Given the description of an element on the screen output the (x, y) to click on. 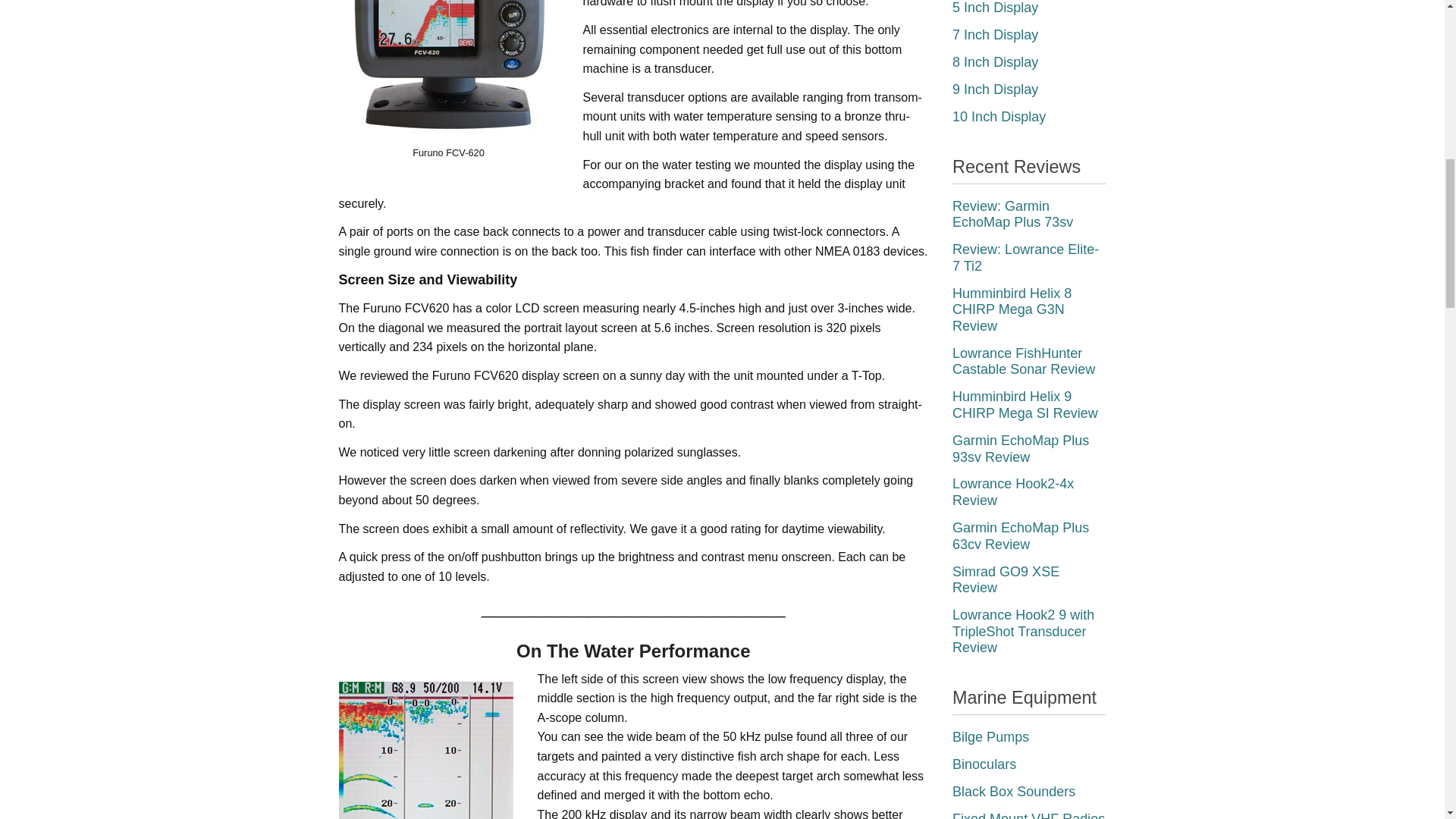
10 Inch Display (998, 116)
5 Inch Display (995, 7)
9 Inch Display (995, 89)
8 Inch Display (995, 61)
7 Inch Display (995, 34)
Review: Garmin EchoMap Plus 73sv (1012, 214)
Humminbird Helix 8 CHIRP Mega G3N Review (1011, 309)
Humminbird Helix 9 CHIRP Mega SI Review (1024, 404)
Lowrance FishHunter Castable Sonar Review (1023, 361)
Review: Lowrance Elite-7 Ti2 (1025, 257)
